Given the description of an element on the screen output the (x, y) to click on. 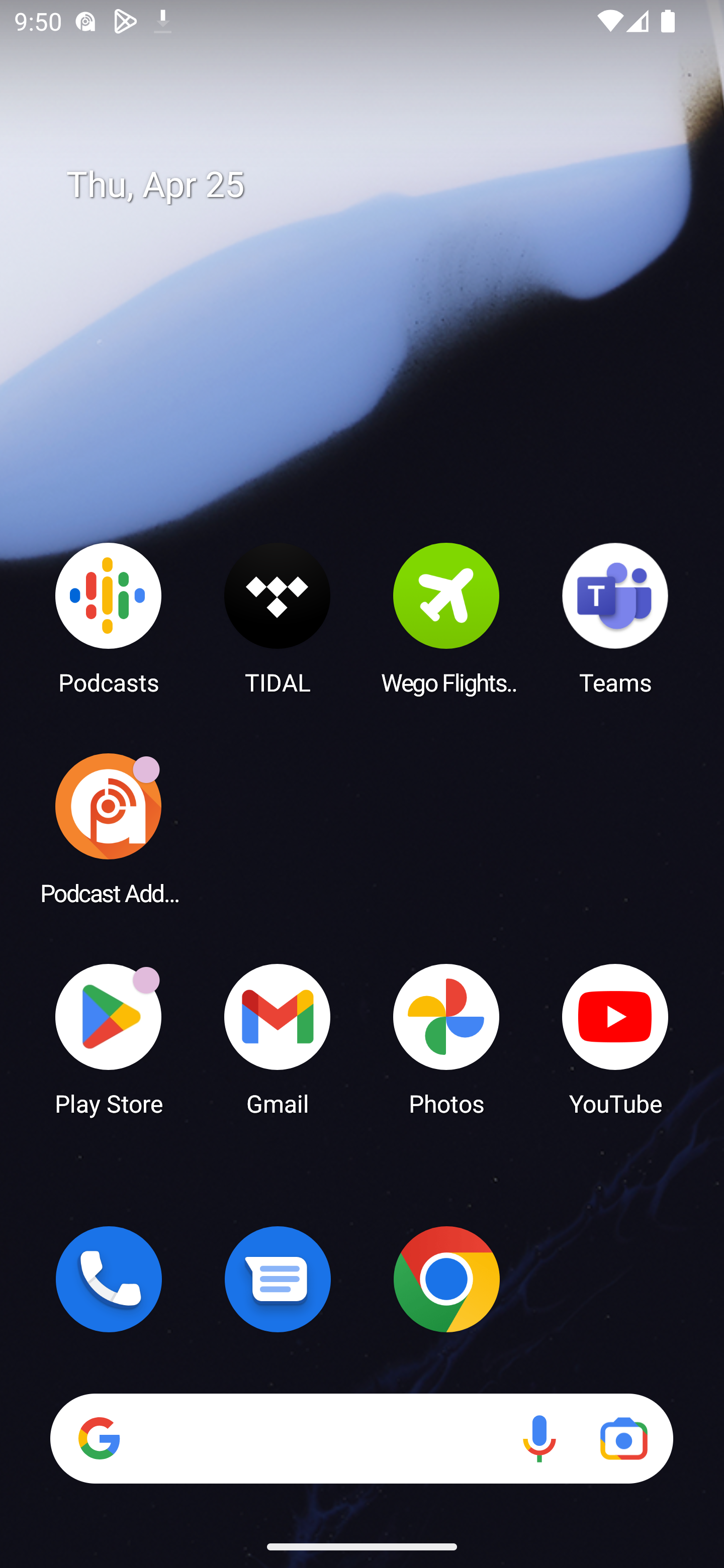
Thu, Apr 25 (375, 184)
Podcasts (108, 617)
TIDAL (277, 617)
Wego Flights & Hotels (445, 617)
Teams (615, 617)
Play Store Play Store has 1 notification (108, 1038)
Gmail (277, 1038)
Photos (445, 1038)
YouTube (615, 1038)
Phone (108, 1279)
Messages (277, 1279)
Chrome (446, 1279)
Search Voice search Google Lens (361, 1438)
Voice search (539, 1438)
Google Lens (623, 1438)
